Given the description of an element on the screen output the (x, y) to click on. 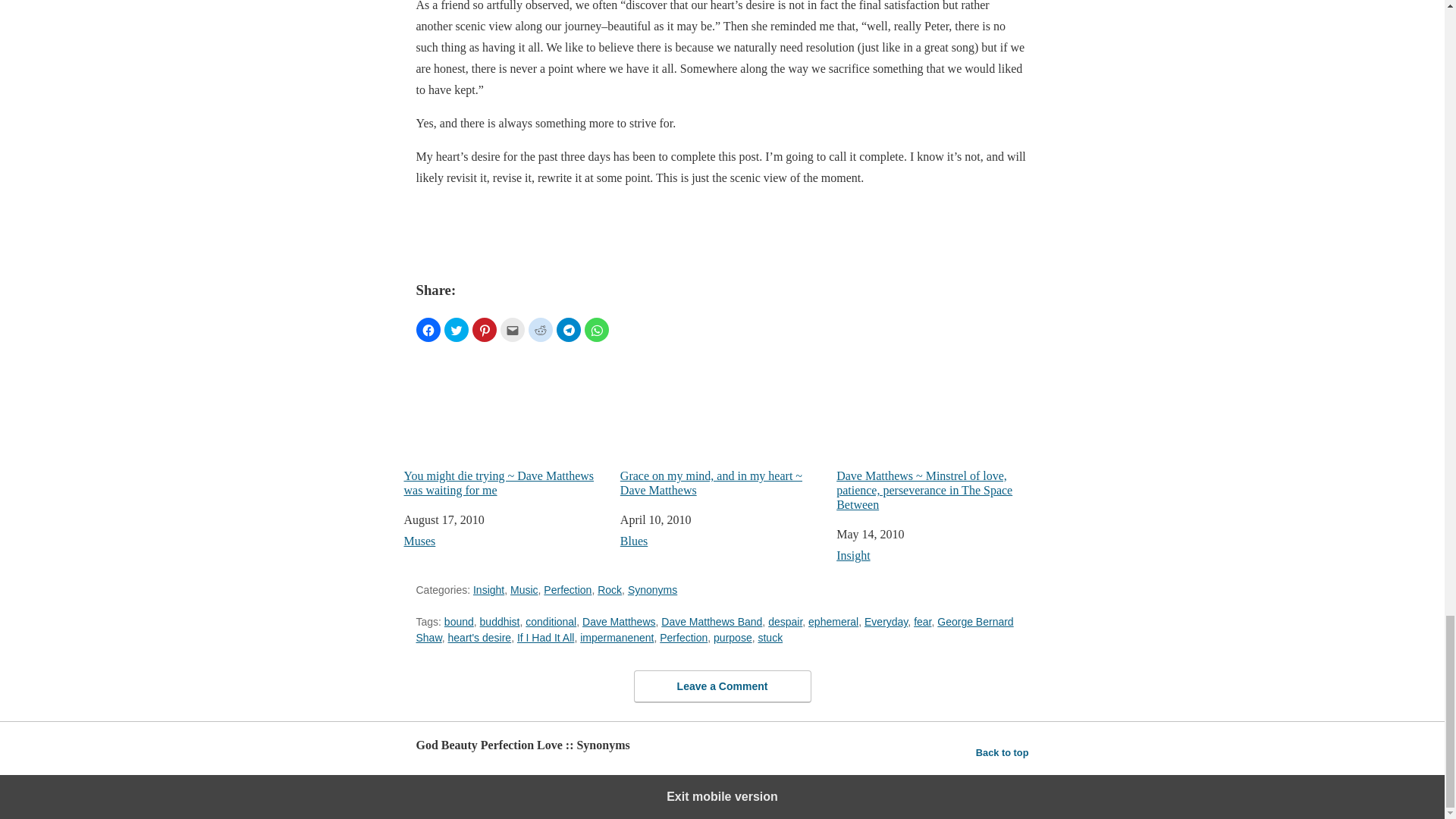
Blues (633, 540)
Click to share on Reddit (539, 329)
Click to share on Pinterest (483, 329)
Click to share on WhatsApp (595, 329)
Music (524, 589)
fear (922, 621)
If I Had It All (544, 637)
Rock (608, 589)
stuck (770, 637)
Perfection (683, 637)
